Given the description of an element on the screen output the (x, y) to click on. 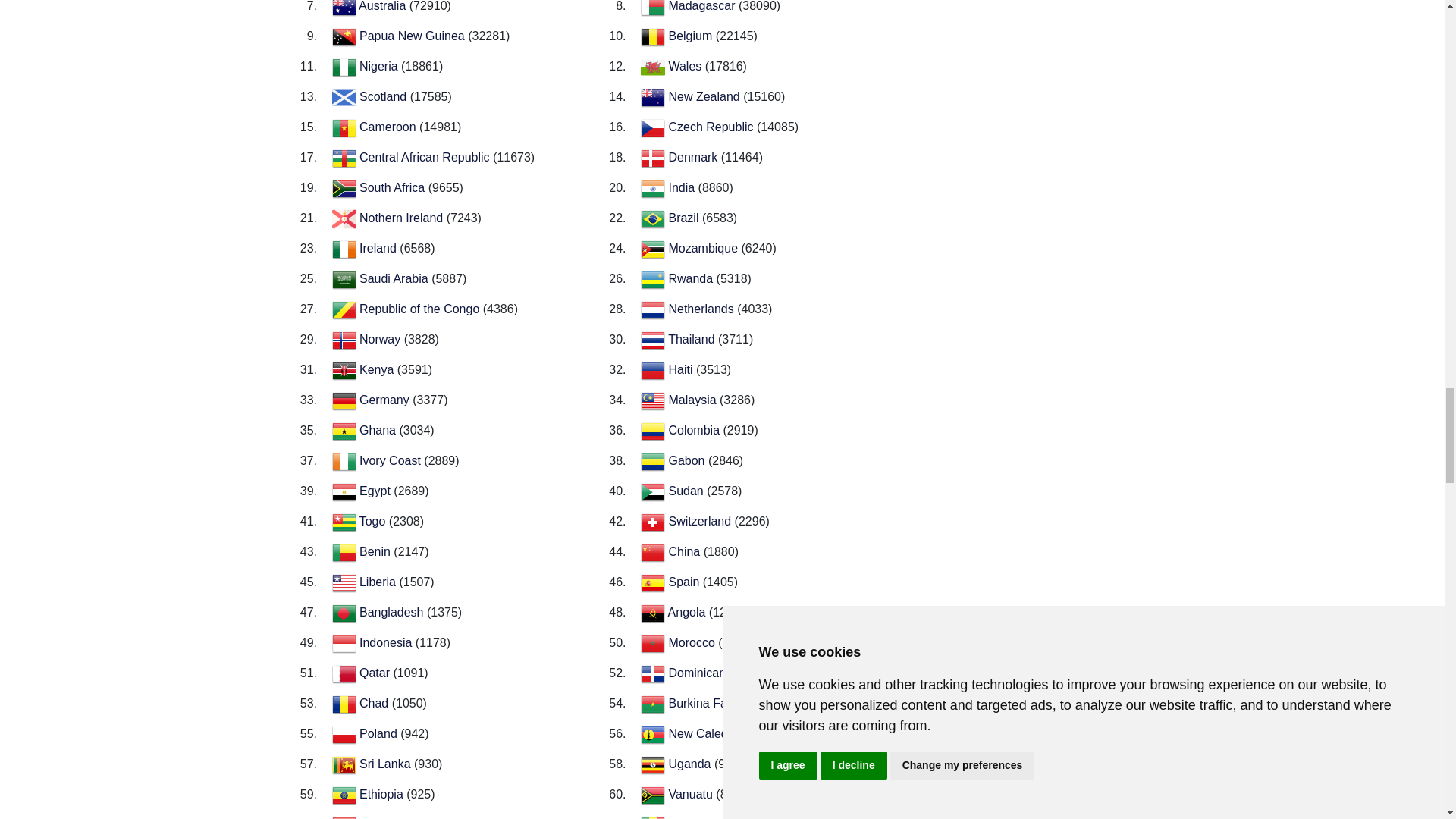
Nothern Ireland (402, 217)
Brazil (684, 217)
Czech Republic (712, 126)
Australia (383, 6)
India (682, 187)
Ireland (378, 247)
Scotland (384, 96)
Cameroon (389, 126)
Wales (686, 65)
Denmark (694, 156)
Papua New Guinea (413, 35)
Nigeria (380, 65)
Central African Republic (426, 156)
Madagascar (703, 6)
South Africa (393, 187)
